Given the description of an element on the screen output the (x, y) to click on. 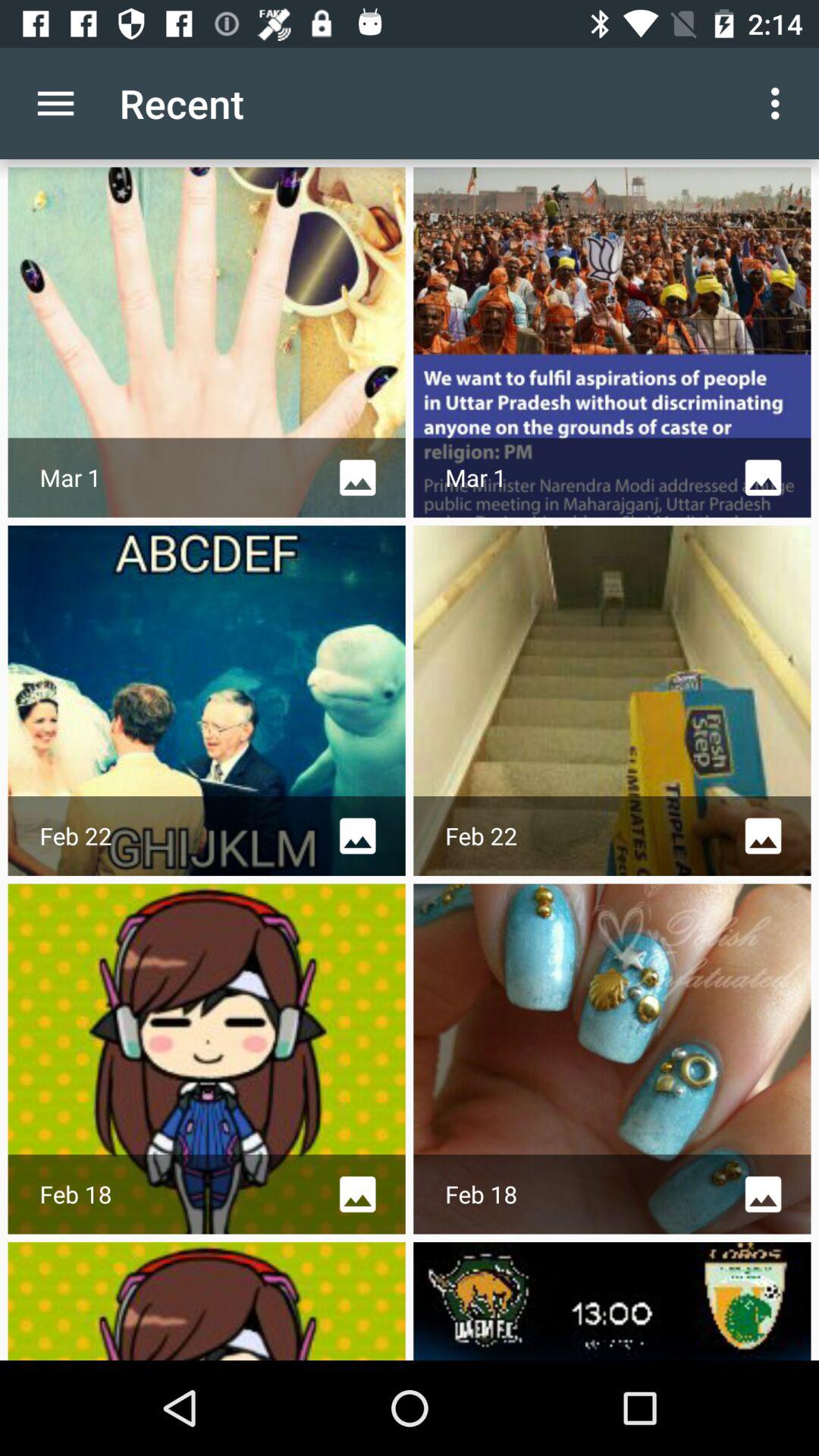
choose the app to the right of the recent item (779, 103)
